Given the description of an element on the screen output the (x, y) to click on. 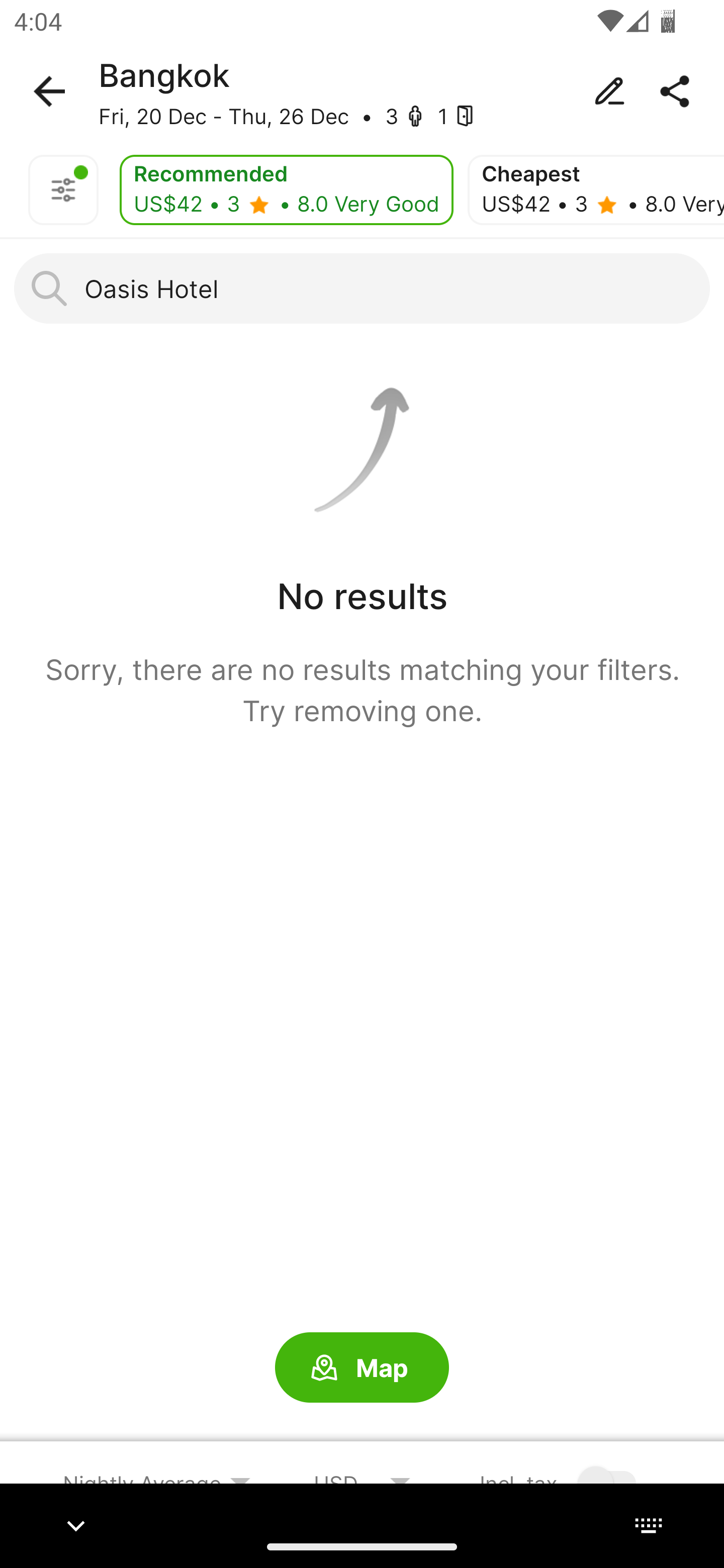
Bangkok Fri, 20 Dec - Thu, 26 Dec  •  3 -  1 - (361, 91)
Recommended  US$42  • 3 - • 8.0 Very Good (286, 190)
Cheapest US$42  • 3 - • 8.0 Very Good (595, 190)
Oasis Hotel (361, 288)
Map  (361, 1367)
